Given the description of an element on the screen output the (x, y) to click on. 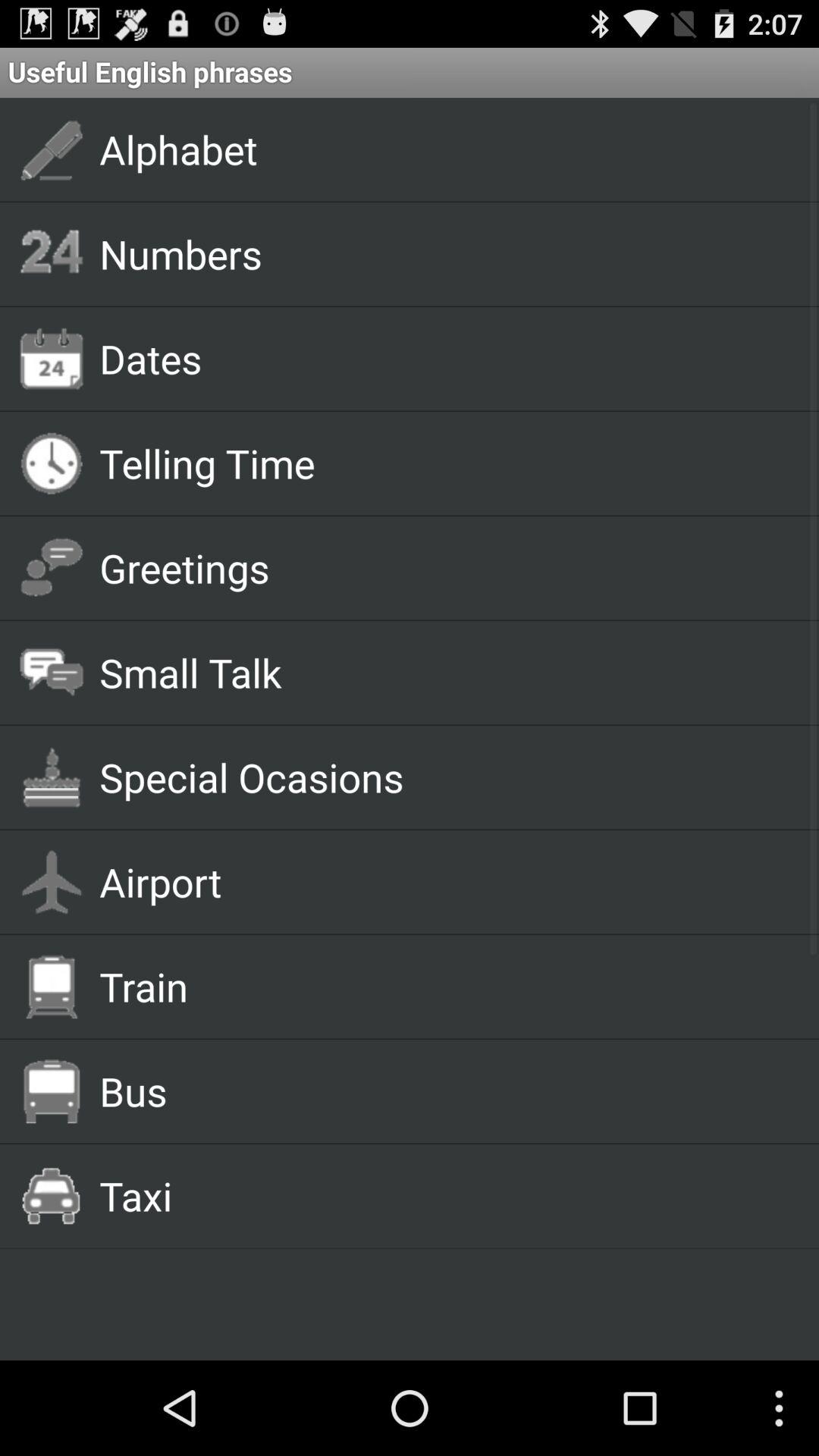
launch train (441, 986)
